Given the description of an element on the screen output the (x, y) to click on. 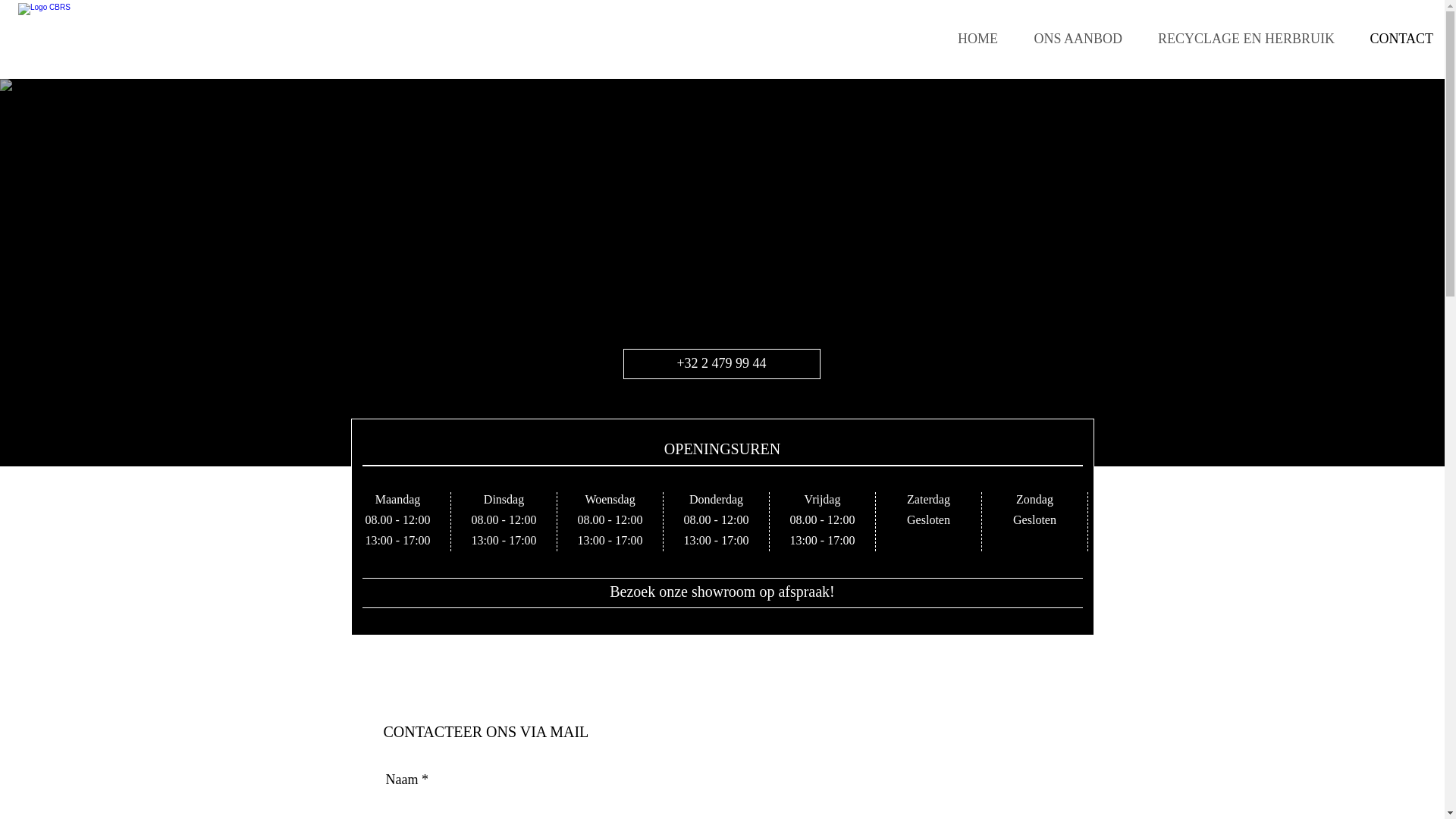
ONS AANBOD Element type: text (1071, 38)
CONTACT Element type: text (1395, 38)
+32 2 479 99 44 Element type: text (721, 363)
HOME Element type: text (971, 38)
RECYCLAGE EN HERBRUIK Element type: text (1239, 38)
